Given the description of an element on the screen output the (x, y) to click on. 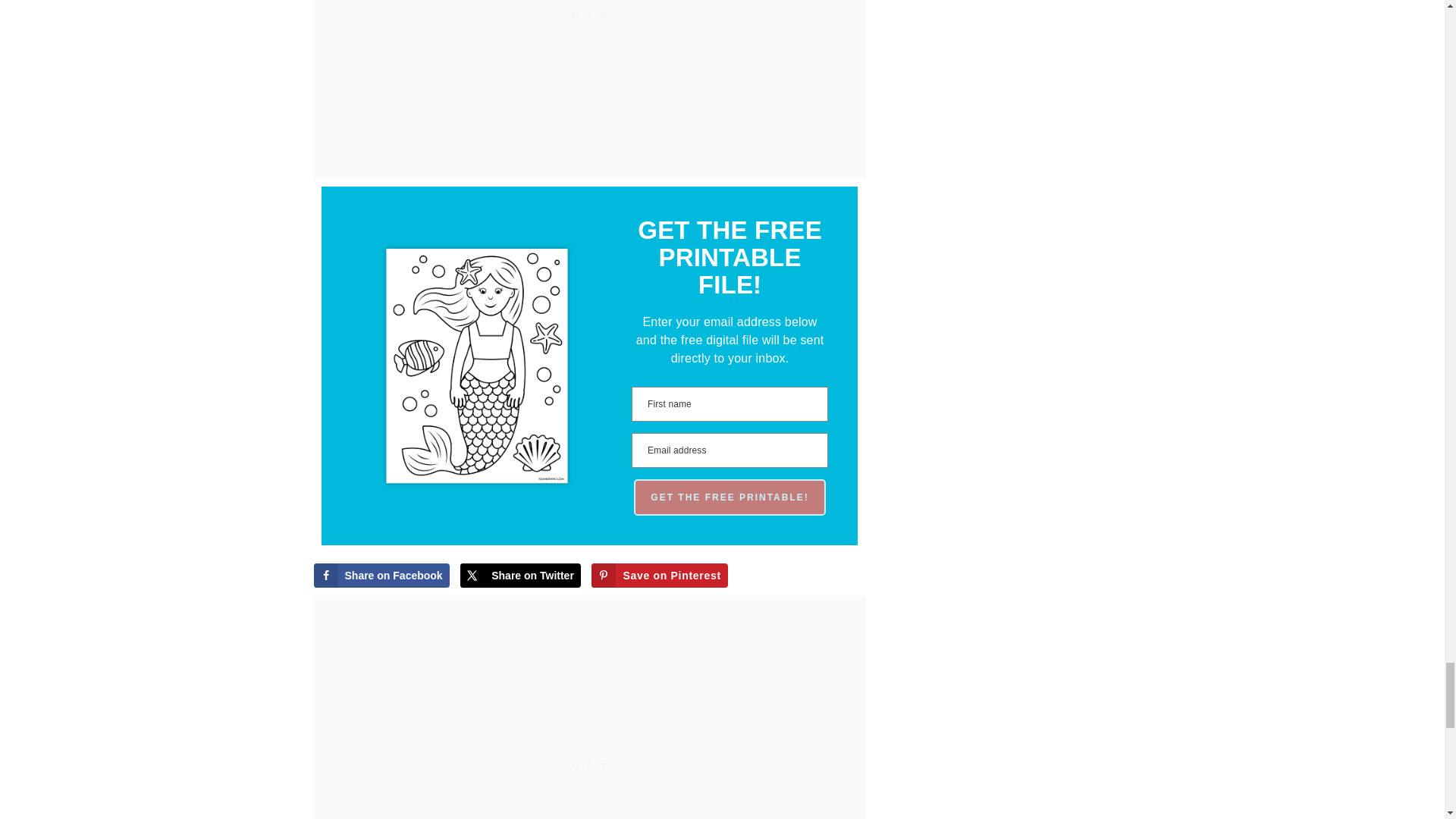
Save to Pinterest (658, 575)
Share on X (520, 575)
Share on Facebook (381, 575)
